Given the description of an element on the screen output the (x, y) to click on. 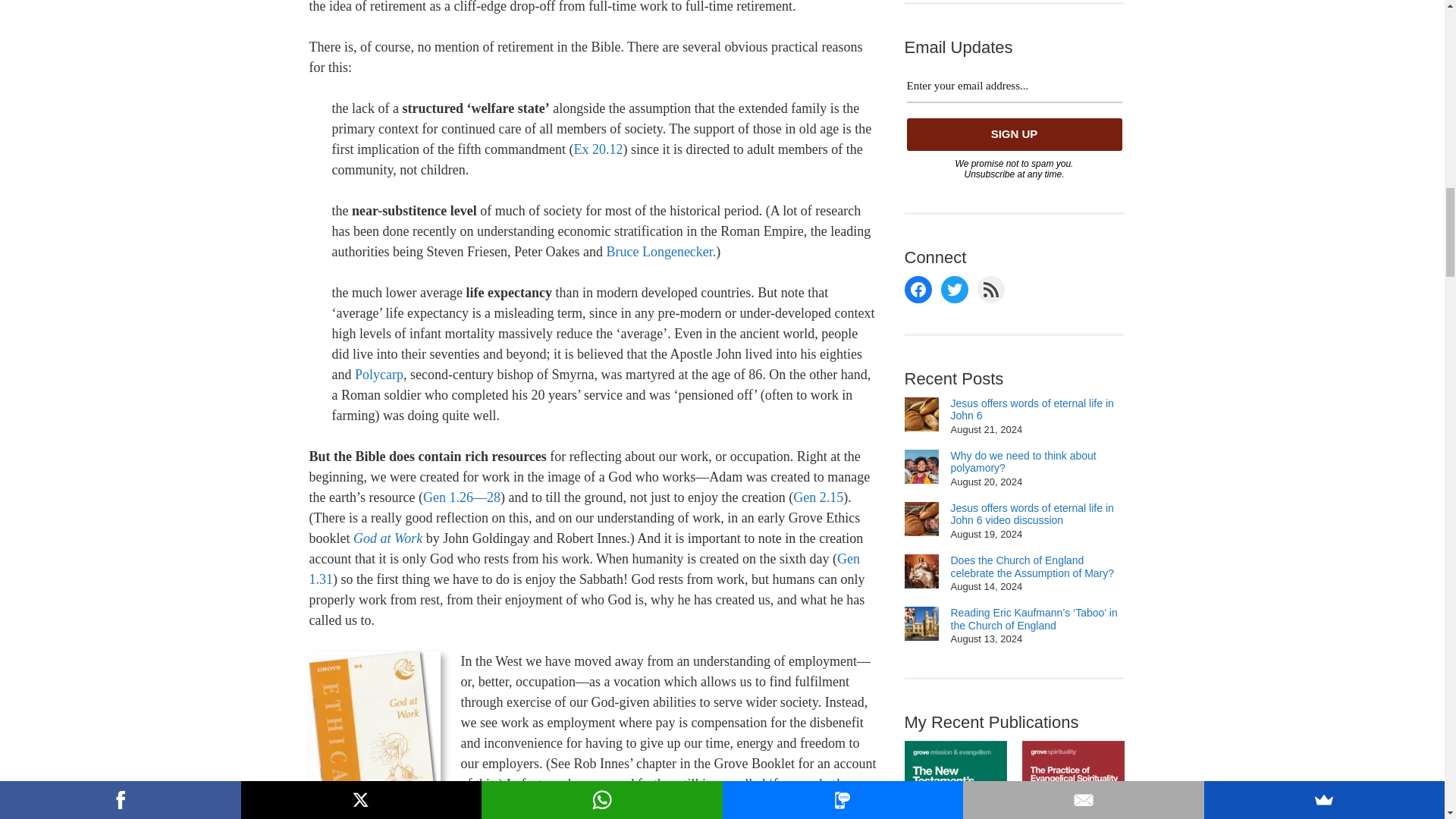
Gen 1.31 (584, 569)
Does Paul care about the poor? Does it matter? (660, 251)
Bruce Longenecker. (660, 251)
Sign Up (1014, 133)
Gen 2.15 (818, 497)
God at Work (387, 538)
Polycarp (379, 374)
Ex 20.12 (598, 149)
